Given the description of an element on the screen output the (x, y) to click on. 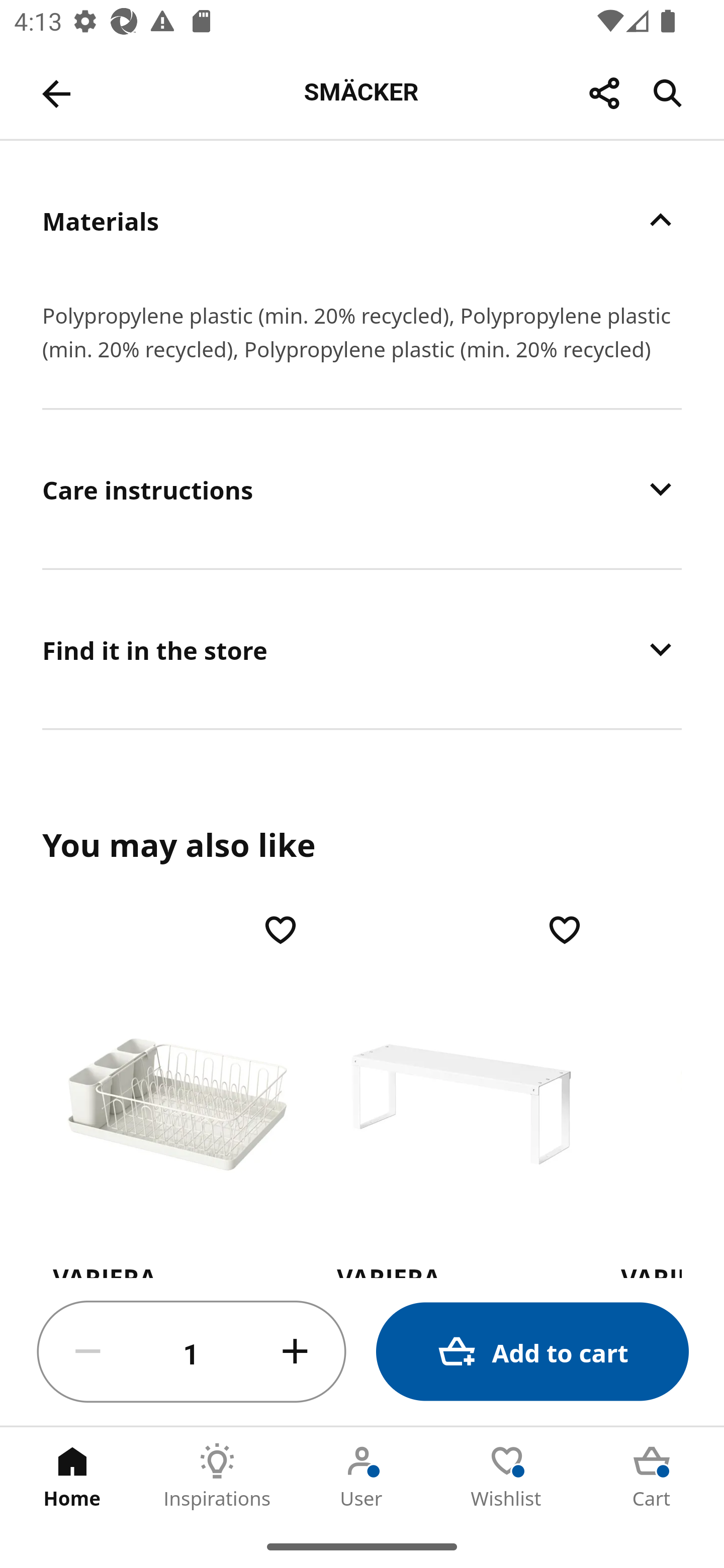
Materials (361, 219)
Care instructions (361, 488)
Find it in the store (361, 648)
Add to cart (531, 1352)
1 (191, 1352)
Home
Tab 1 of 5 (72, 1476)
Inspirations
Tab 2 of 5 (216, 1476)
User
Tab 3 of 5 (361, 1476)
Wishlist
Tab 4 of 5 (506, 1476)
Cart
Tab 5 of 5 (651, 1476)
